Given the description of an element on the screen output the (x, y) to click on. 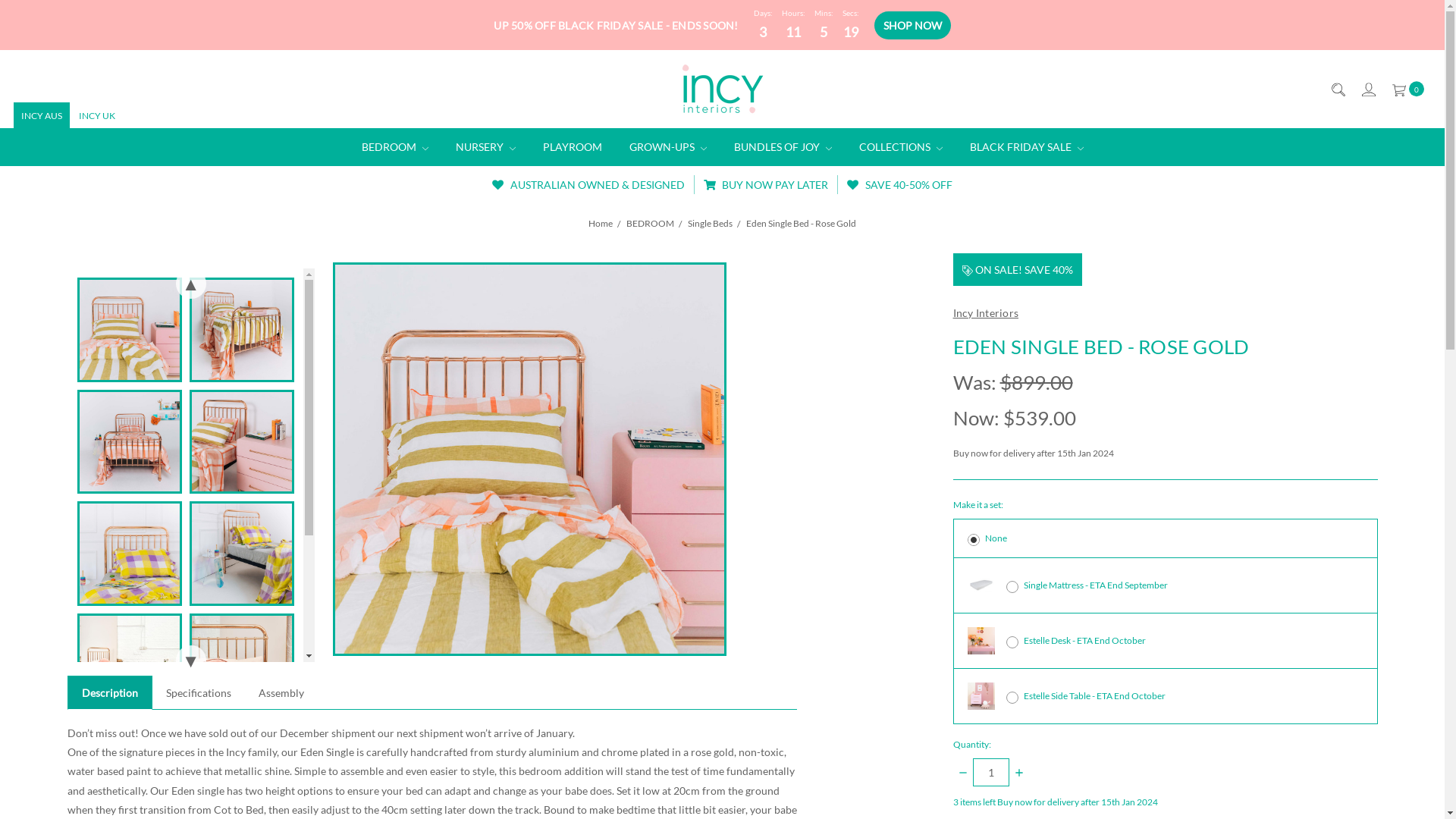
Incy Interiors Eden Single Bed - Rose Gold Element type: hover (241, 329)
COLLECTIONS Element type: text (899, 146)
Description Element type: text (109, 692)
Incy Interiors Eden Single Bed - Rose Gold Element type: hover (129, 665)
GROWN-UPS Element type: text (667, 146)
BUNDLES OF JOY Element type: text (782, 146)
NURSERY Element type: text (484, 146)
Specifications Element type: text (197, 692)
Incy Interiors Eden Single Bed - Rose Gold Element type: hover (129, 553)
BLACK FRIDAY SALE Element type: text (1025, 146)
Assembly Element type: text (280, 692)
Incy Interiors Estelle Side Table - Blush Pink Element type: hover (980, 695)
Incy Interiors Eden Single Bed - Rose Gold Element type: hover (241, 441)
Eden Single Bed - Rose Gold Element type: text (801, 223)
SHOP NOW Element type: text (912, 25)
Single Beds Element type: text (709, 223)
Incy Interiors Eden Single Bed - Rose Gold Element type: hover (129, 329)
INCY AUS Element type: text (41, 115)
Incy Interiors Eden Single Bed - Rose Gold Element type: hover (241, 665)
BEDROOM Element type: text (394, 146)
Incy Interiors Eden Single Bed - Rose Gold Element type: hover (241, 553)
Incy Interiors Eden Single Bed - Rose Gold Element type: hover (529, 458)
Incy Interiors Element type: text (986, 312)
BEDROOM Element type: text (650, 223)
Incy Interiors Element type: hover (722, 88)
Incy Interiors Estelle Desk - Blush Pink Element type: hover (980, 640)
Incy Interiors Single Bed Mattress Element type: hover (980, 585)
Incy Interiors Eden Single Bed - Rose Gold Element type: hover (129, 441)
INCREASE QUANTITY: Element type: text (1018, 772)
PLAYROOM Element type: text (572, 146)
Home Element type: text (600, 223)
INCY UK Element type: text (96, 115)
0 Element type: text (1406, 89)
DECREASE QUANTITY: Element type: text (962, 772)
